Given the description of an element on the screen output the (x, y) to click on. 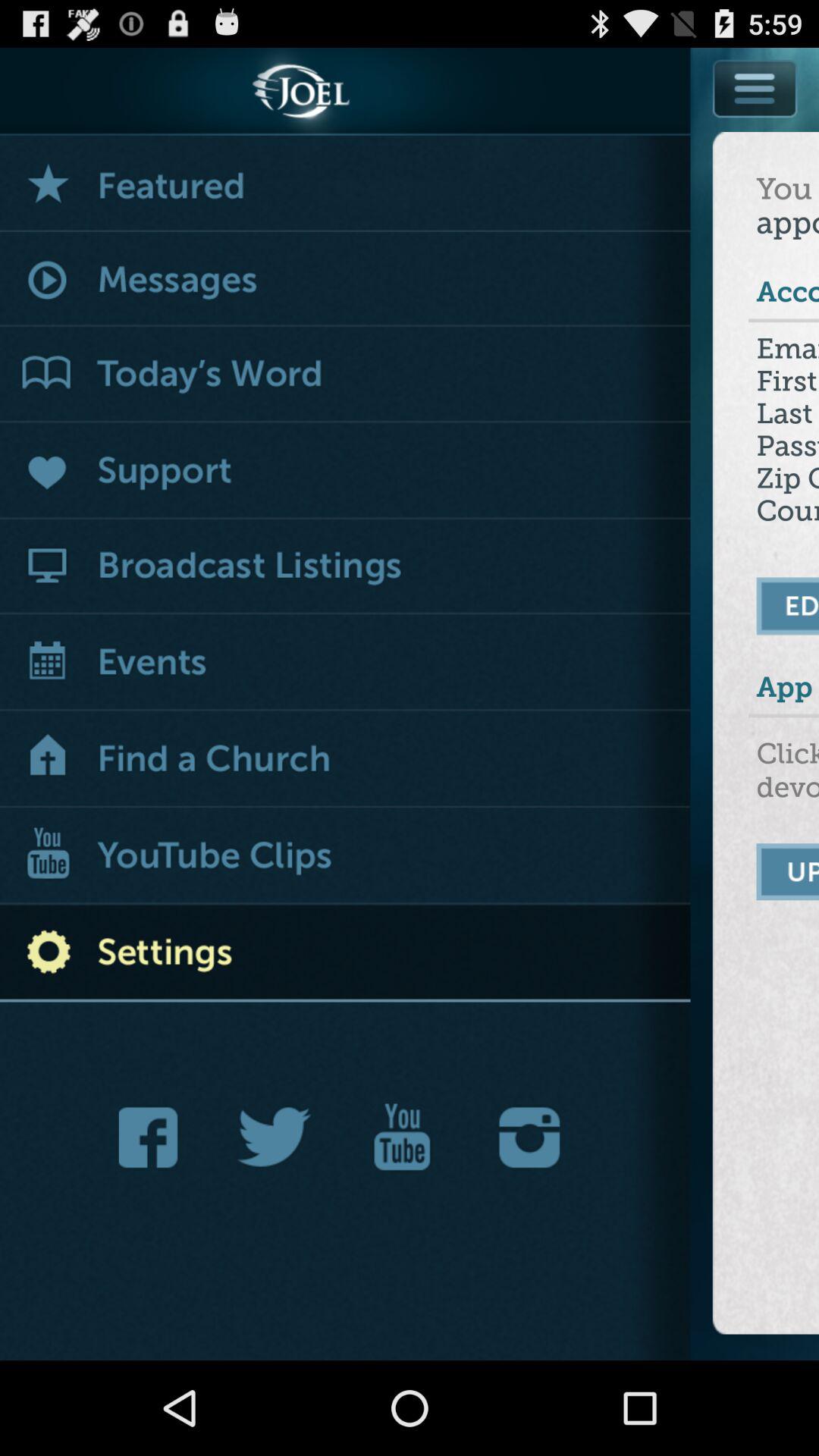
close menu (755, 122)
